Given the description of an element on the screen output the (x, y) to click on. 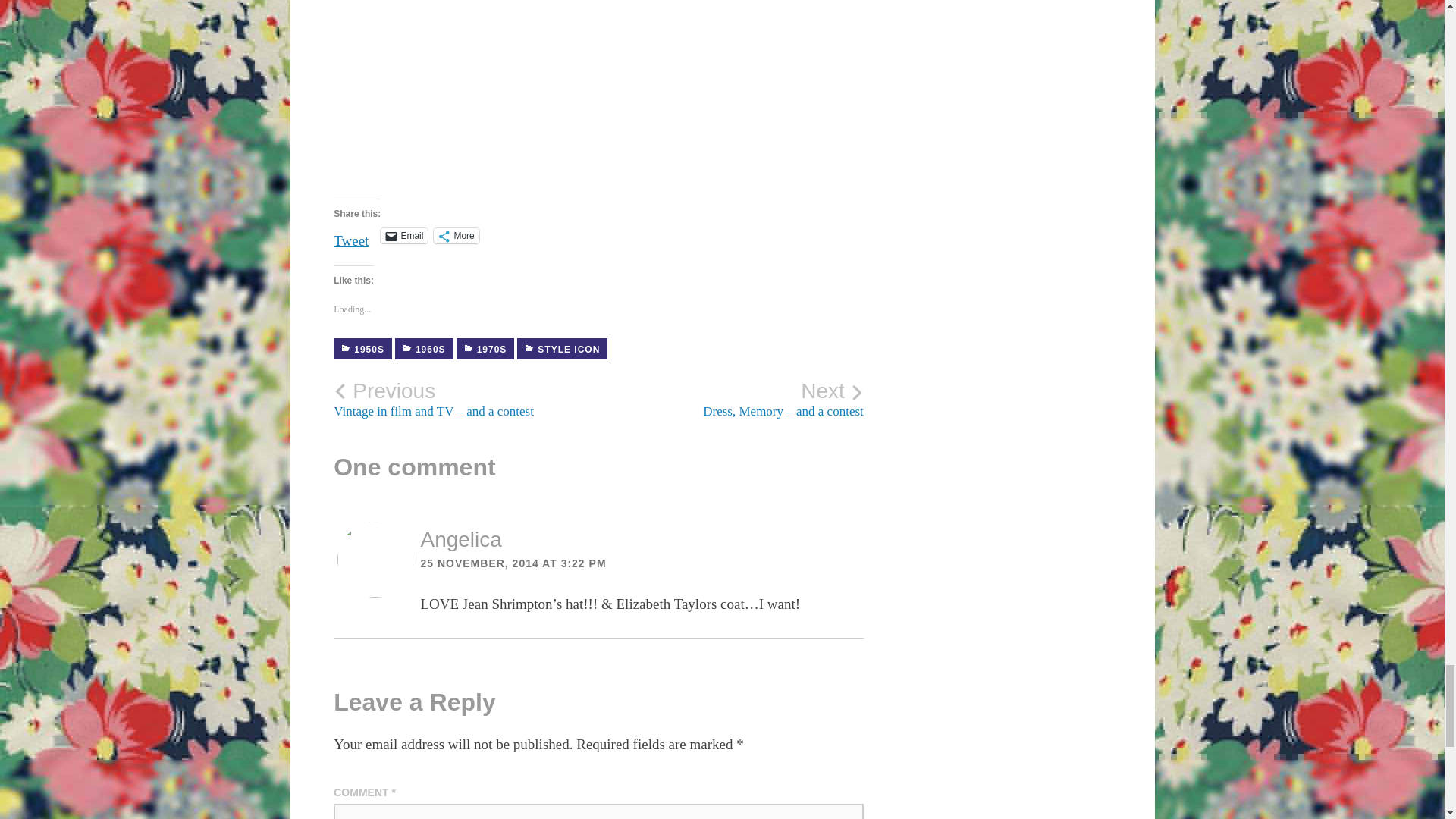
More (456, 235)
Email (404, 235)
Click to email a link to a friend (404, 235)
Tweet (350, 234)
